Given the description of an element on the screen output the (x, y) to click on. 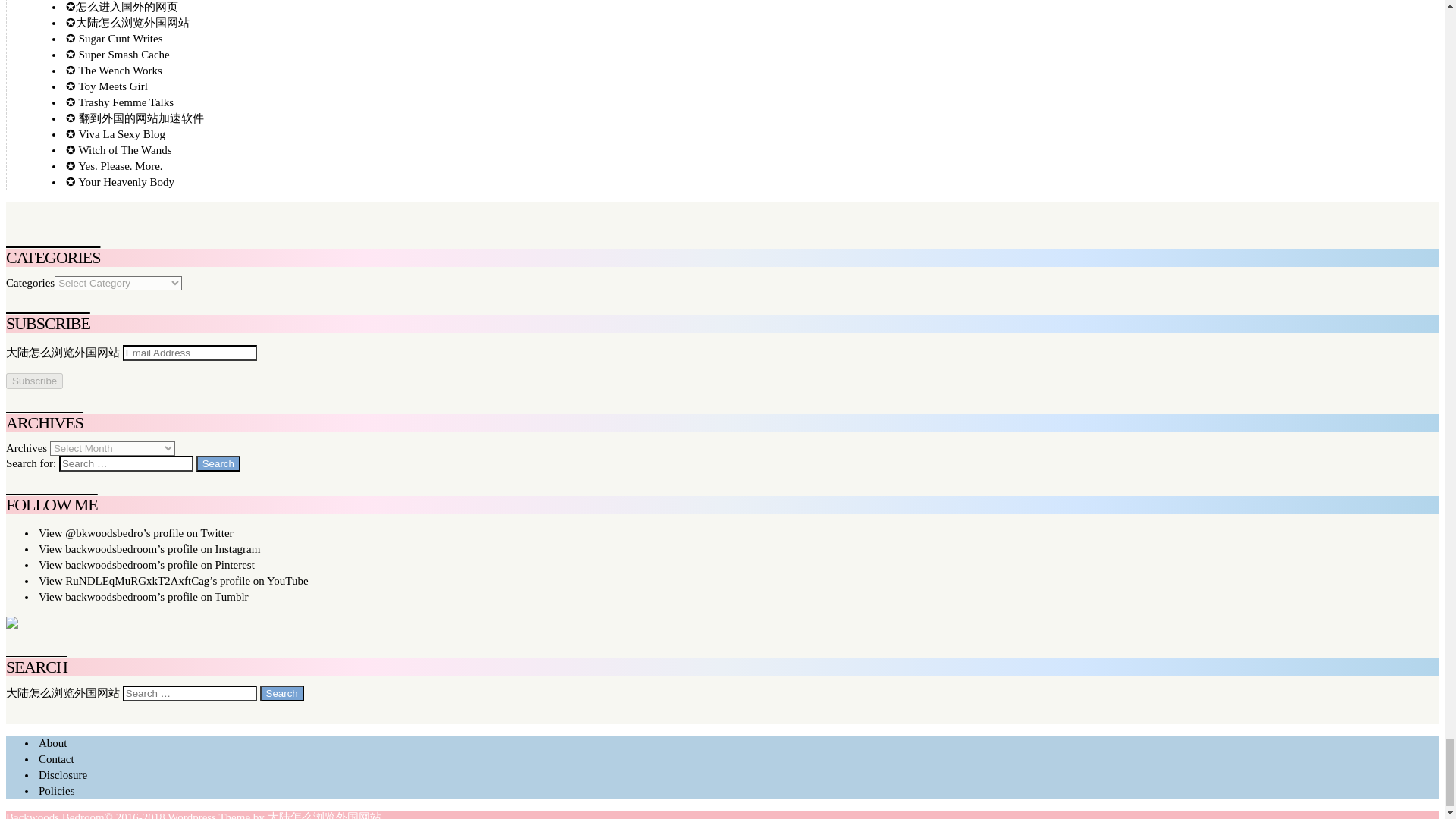
Search (280, 693)
Search (280, 693)
Search (218, 463)
Search (218, 463)
Subscribe (33, 381)
Search (218, 463)
Search (280, 693)
